Given the description of an element on the screen output the (x, y) to click on. 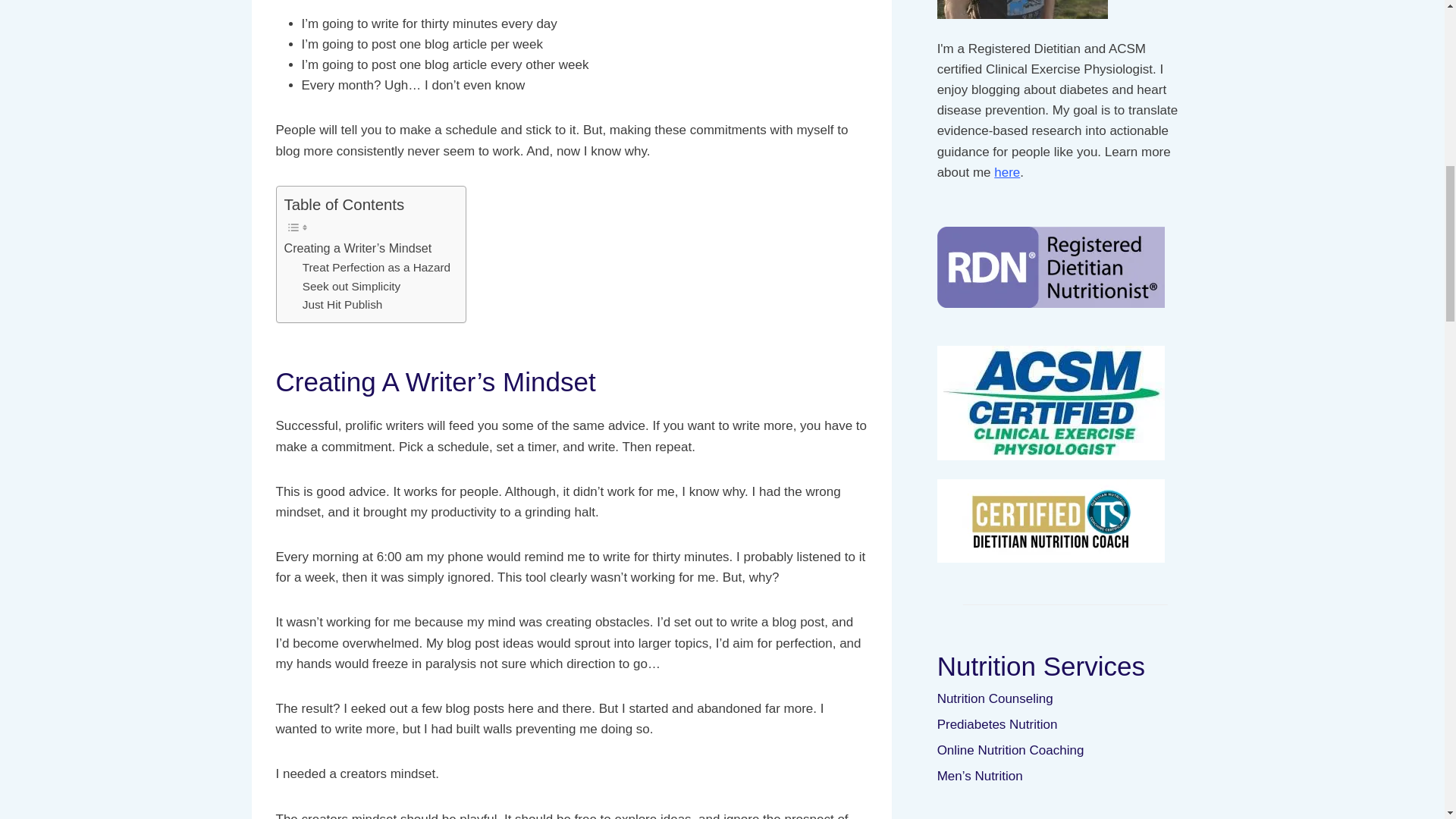
Seek out Simplicity (351, 286)
Nutrition Counseling (1065, 699)
Treat Perfection as a Hazard (375, 267)
Treat Perfection as a Hazard (375, 267)
Seek out Simplicity (351, 286)
Online Nutrition Coaching (1065, 750)
Just Hit Publish (342, 304)
here (1007, 172)
Prediabetes Nutrition (1065, 724)
Just Hit Publish (342, 304)
